Given the description of an element on the screen output the (x, y) to click on. 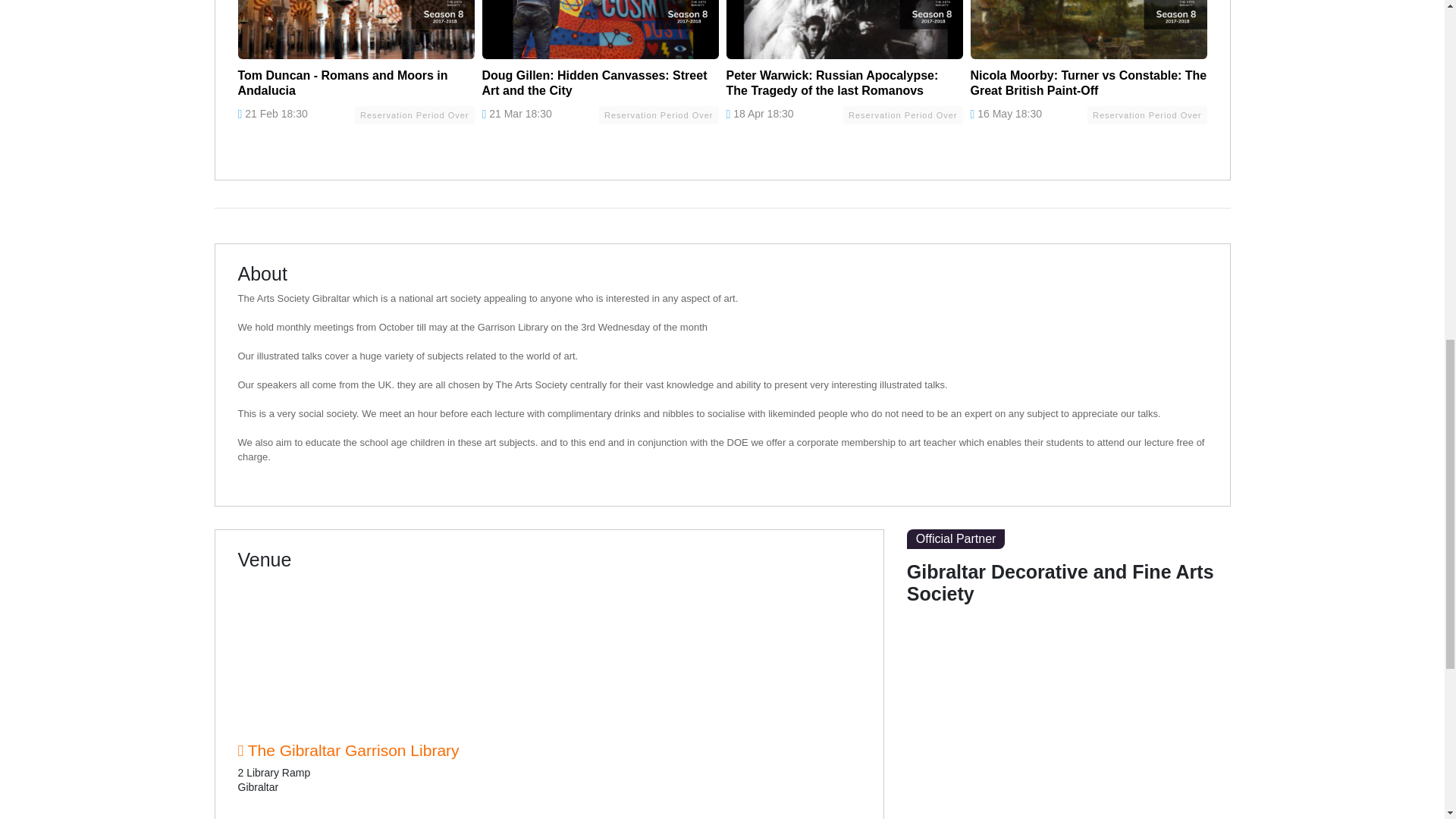
Reservation Period Over (902, 115)
Reservation Period Over (657, 115)
Reservation Period Over (414, 115)
Reservation Period Over (1147, 115)
